Given the description of an element on the screen output the (x, y) to click on. 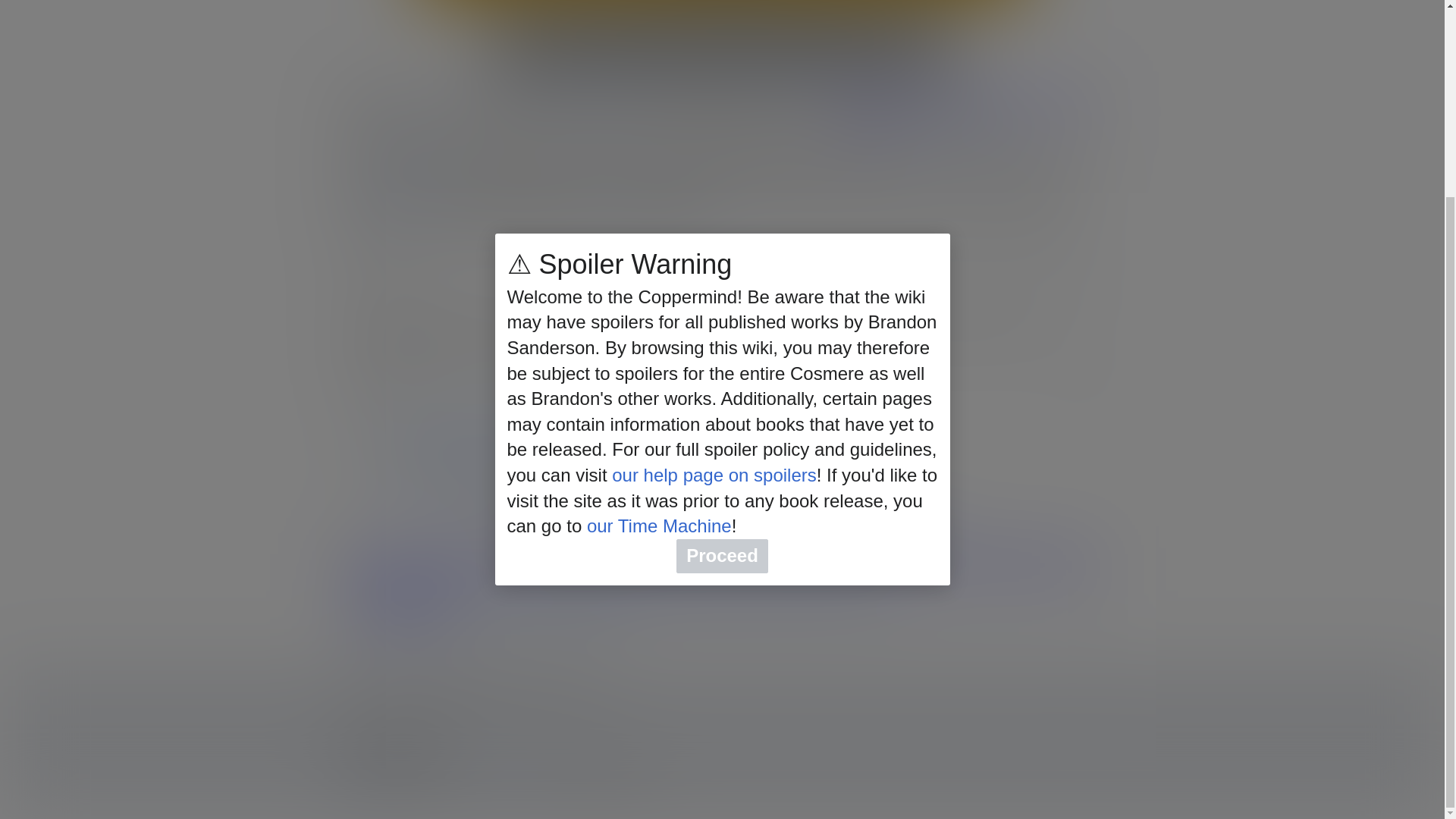
The Frugal Wizard's Handbook for Surviving Medieval England (759, 31)
Black Bear (410, 167)
Thunor (419, 115)
Woden (765, 95)
Black Bear (410, 167)
Sefawynn (626, 115)
skops (732, 239)
Thunor (419, 115)
Ealstan (612, 207)
Edit (1091, 380)
Weswarans (556, 95)
Ealstan's (612, 207)
Sefawynn (626, 115)
Battle of Badon (407, 207)
